Given the description of an element on the screen output the (x, y) to click on. 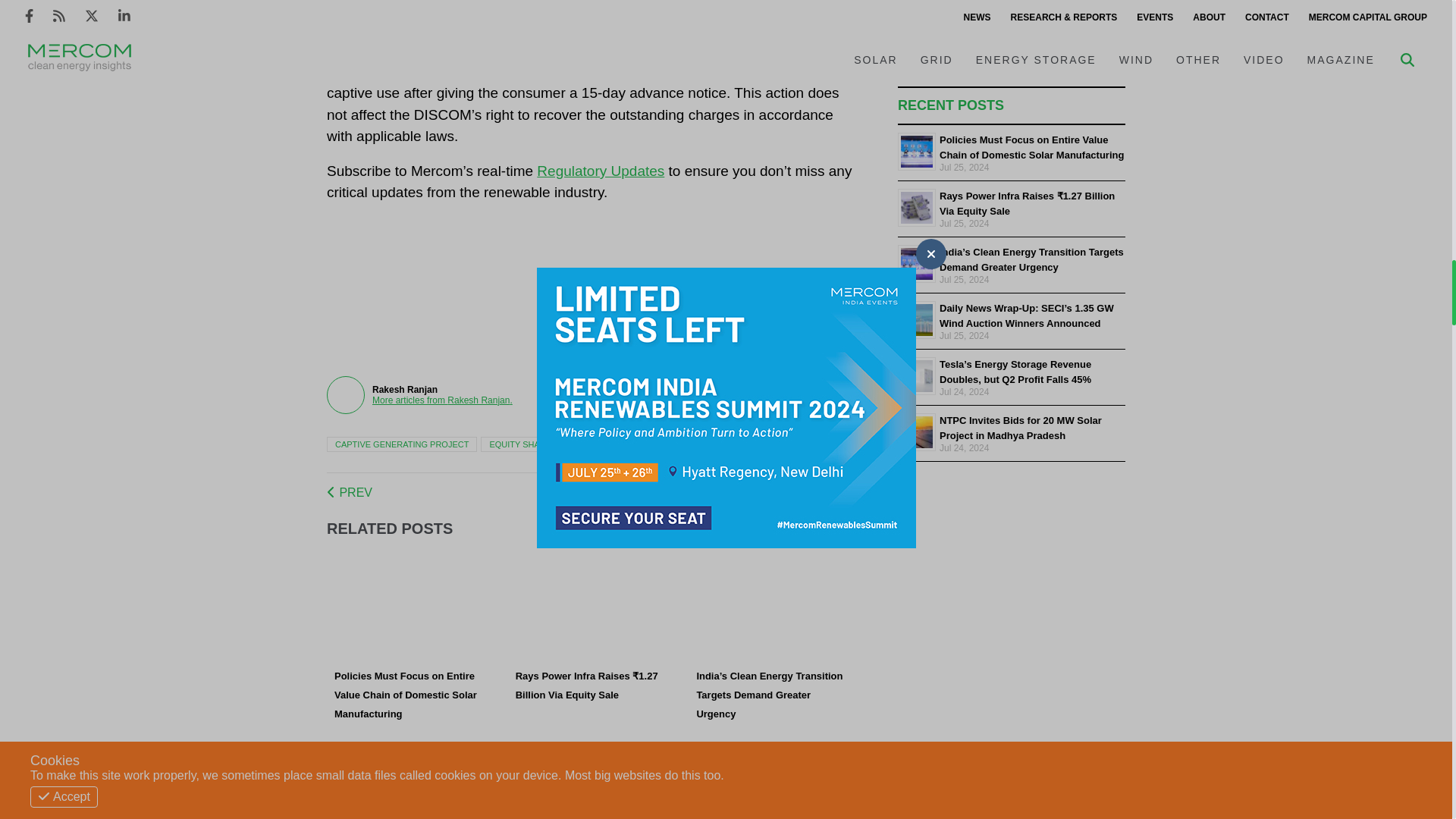
3rd party ad content (704, 298)
